Given the description of an element on the screen output the (x, y) to click on. 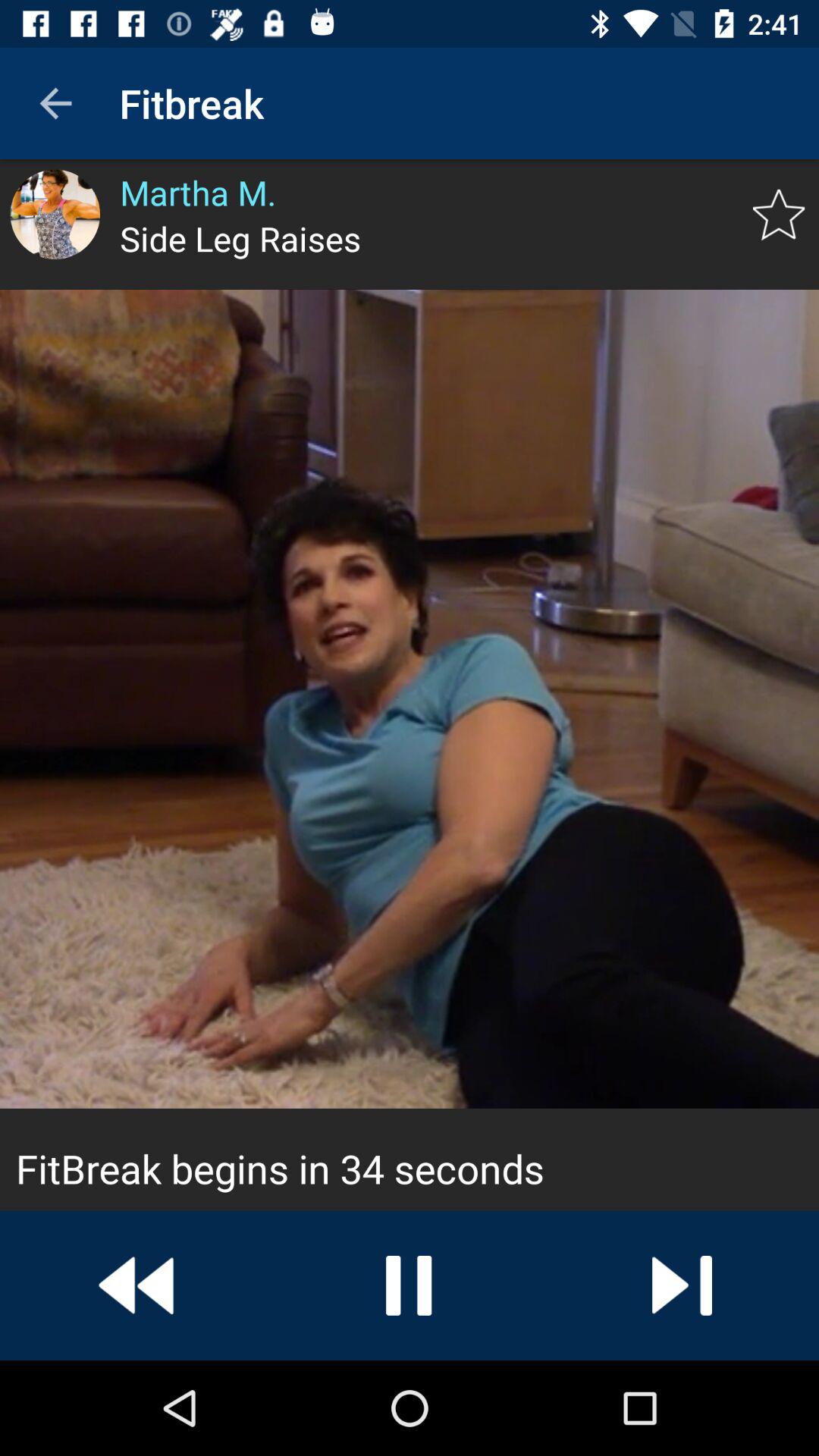
turn on item next to side leg raises (778, 215)
